Given the description of an element on the screen output the (x, y) to click on. 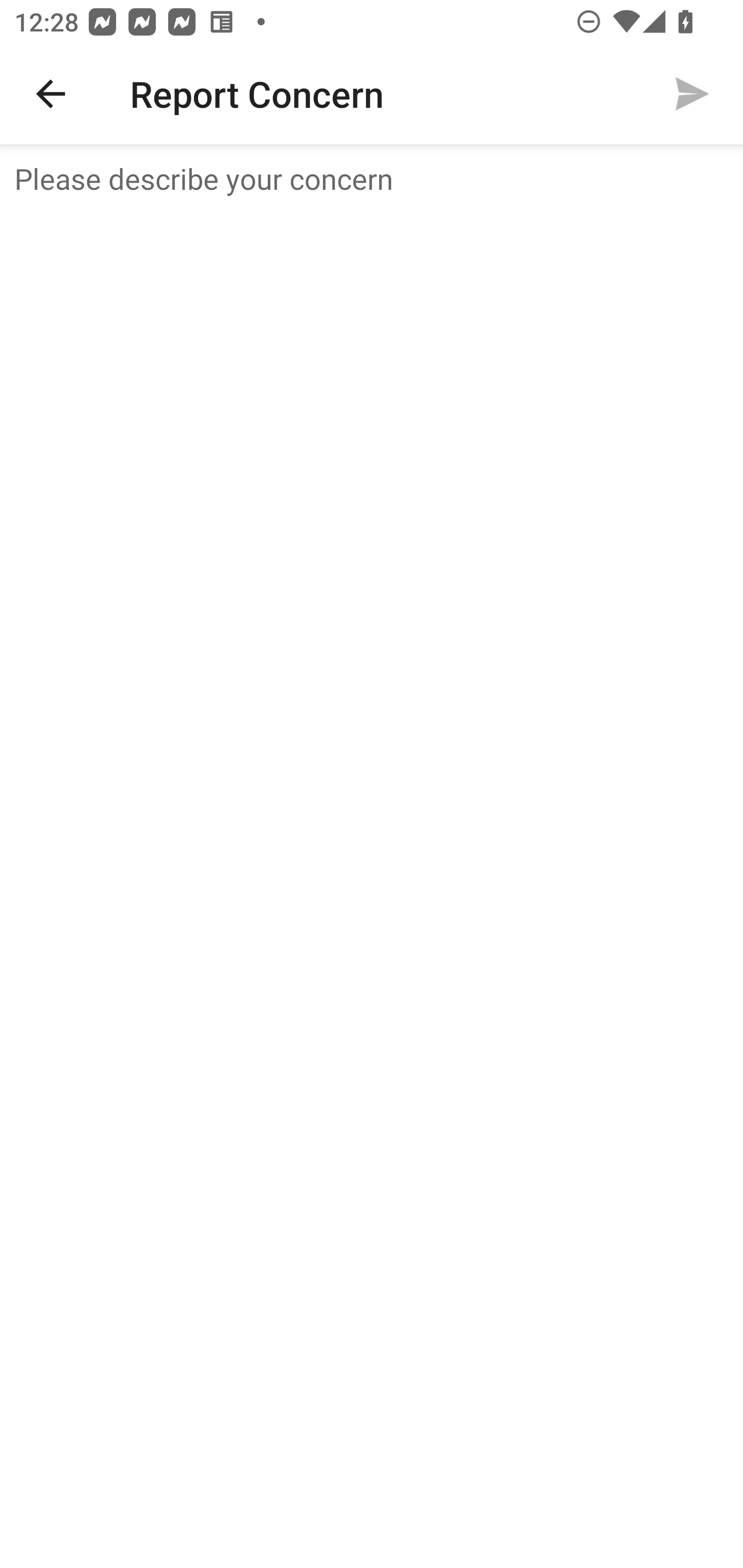
Navigate up (50, 93)
Send (692, 93)
